Given the description of an element on the screen output the (x, y) to click on. 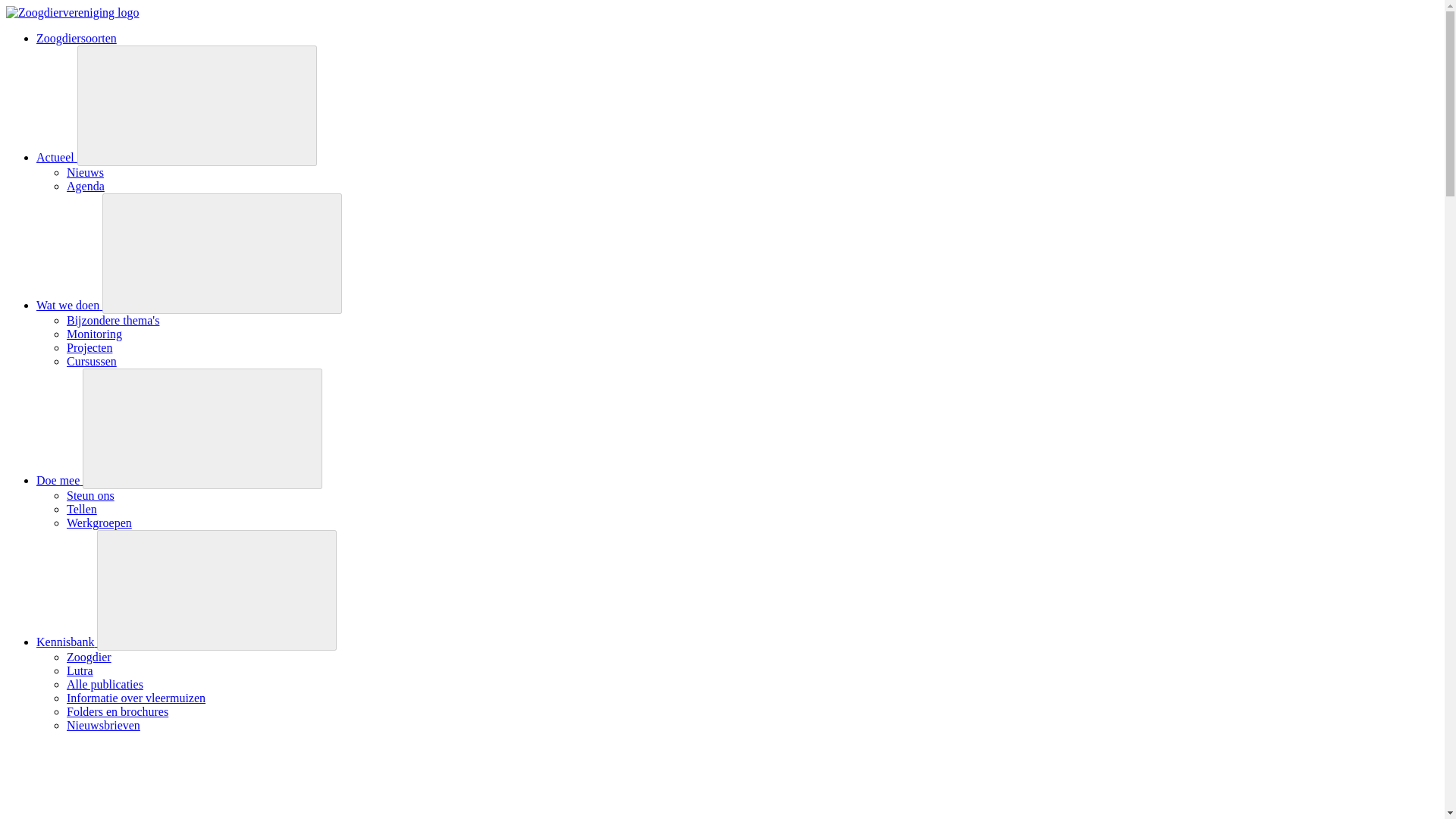
Cursussen (91, 360)
Zoogdiersoorten (76, 38)
Steun ons (90, 495)
Bijzondere thema's (112, 319)
Folders en brochures (117, 711)
Informatie over vleermuizen (135, 697)
Doe mee (59, 480)
Wat we doen (68, 305)
Kennisbank (66, 641)
Actueel (56, 156)
Projecten (89, 347)
Monitoring (94, 333)
Werkgroepen (99, 522)
Agenda (85, 185)
